Given the description of an element on the screen output the (x, y) to click on. 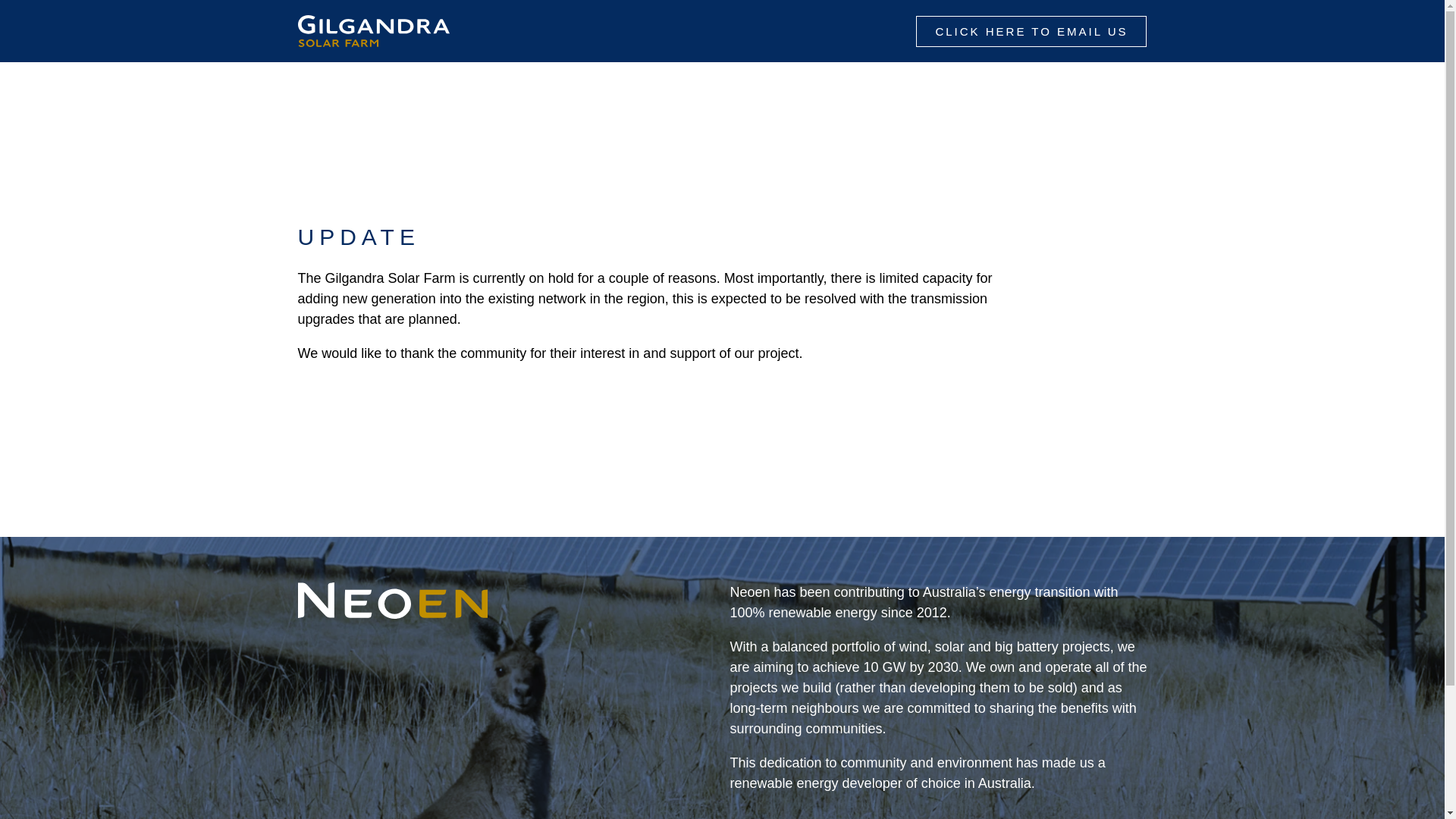
CLICK HERE TO EMAIL US (1031, 30)
